Given the description of an element on the screen output the (x, y) to click on. 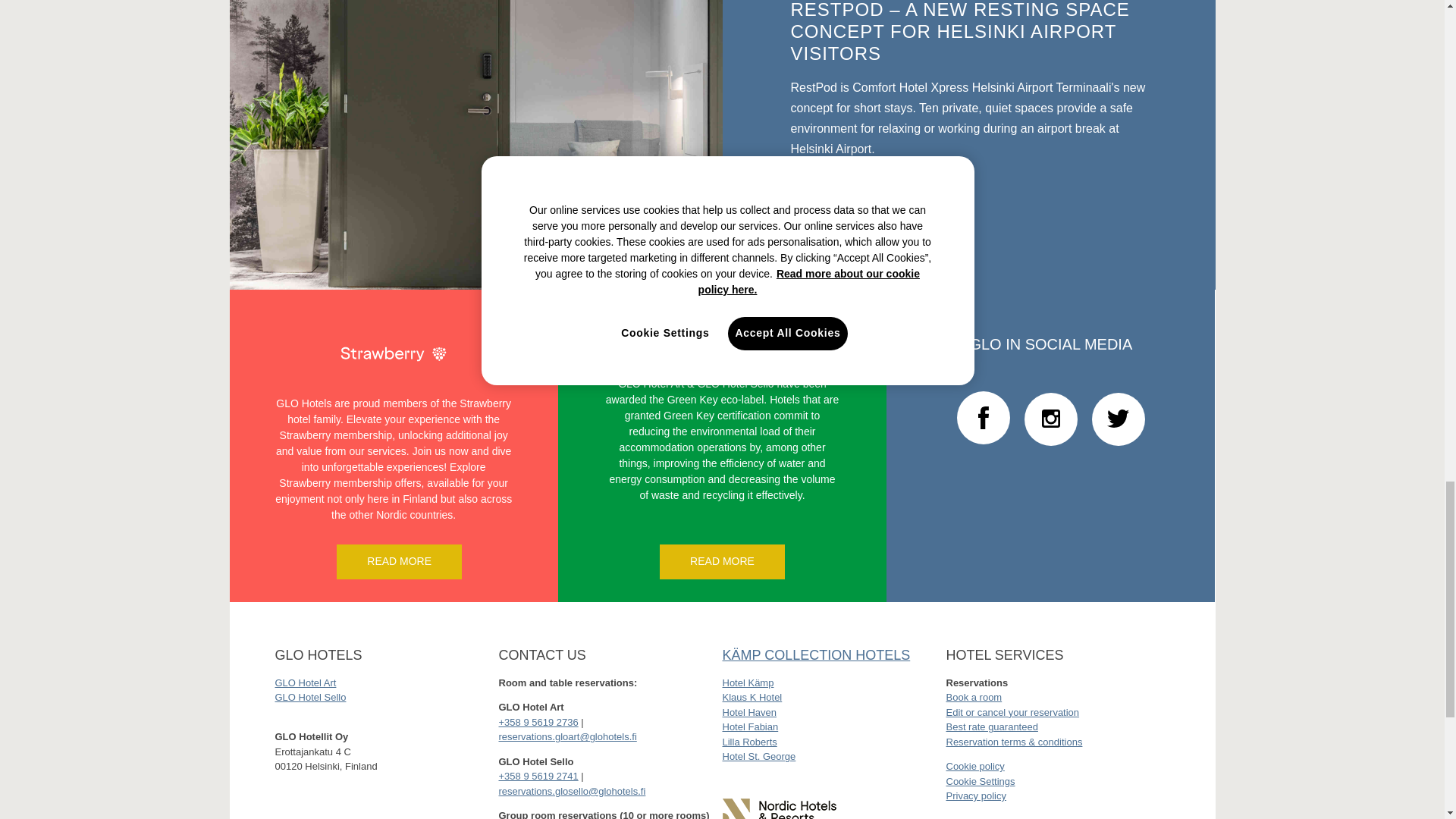
GLO Hotel Art (305, 682)
Nordic Choice Hotels (778, 808)
GLO Hotel Sello (310, 696)
READ MORE (721, 561)
READ MORE (398, 561)
READ MORE (852, 188)
